Given the description of an element on the screen output the (x, y) to click on. 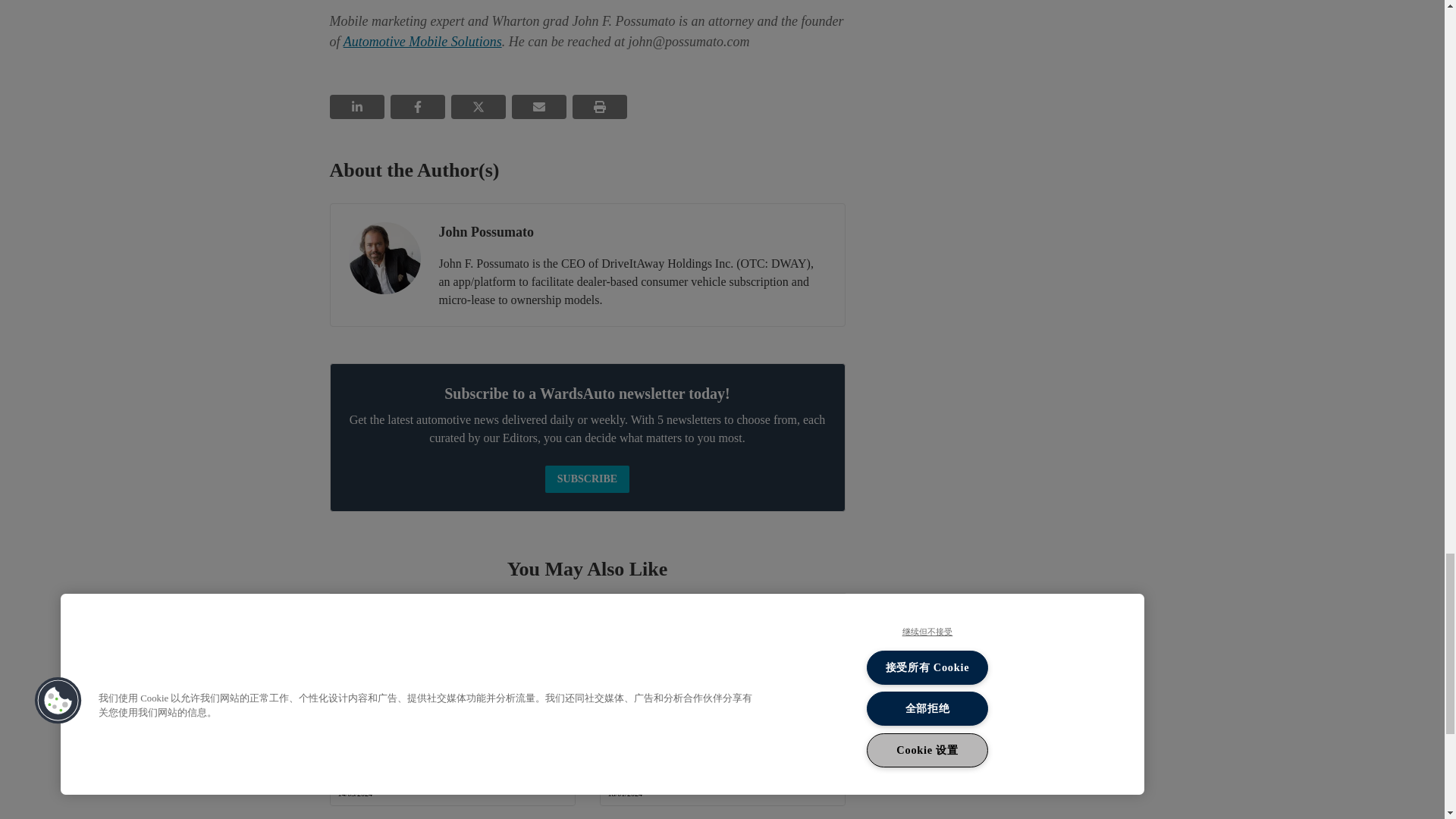
John Possumato (384, 257)
